Given the description of an element on the screen output the (x, y) to click on. 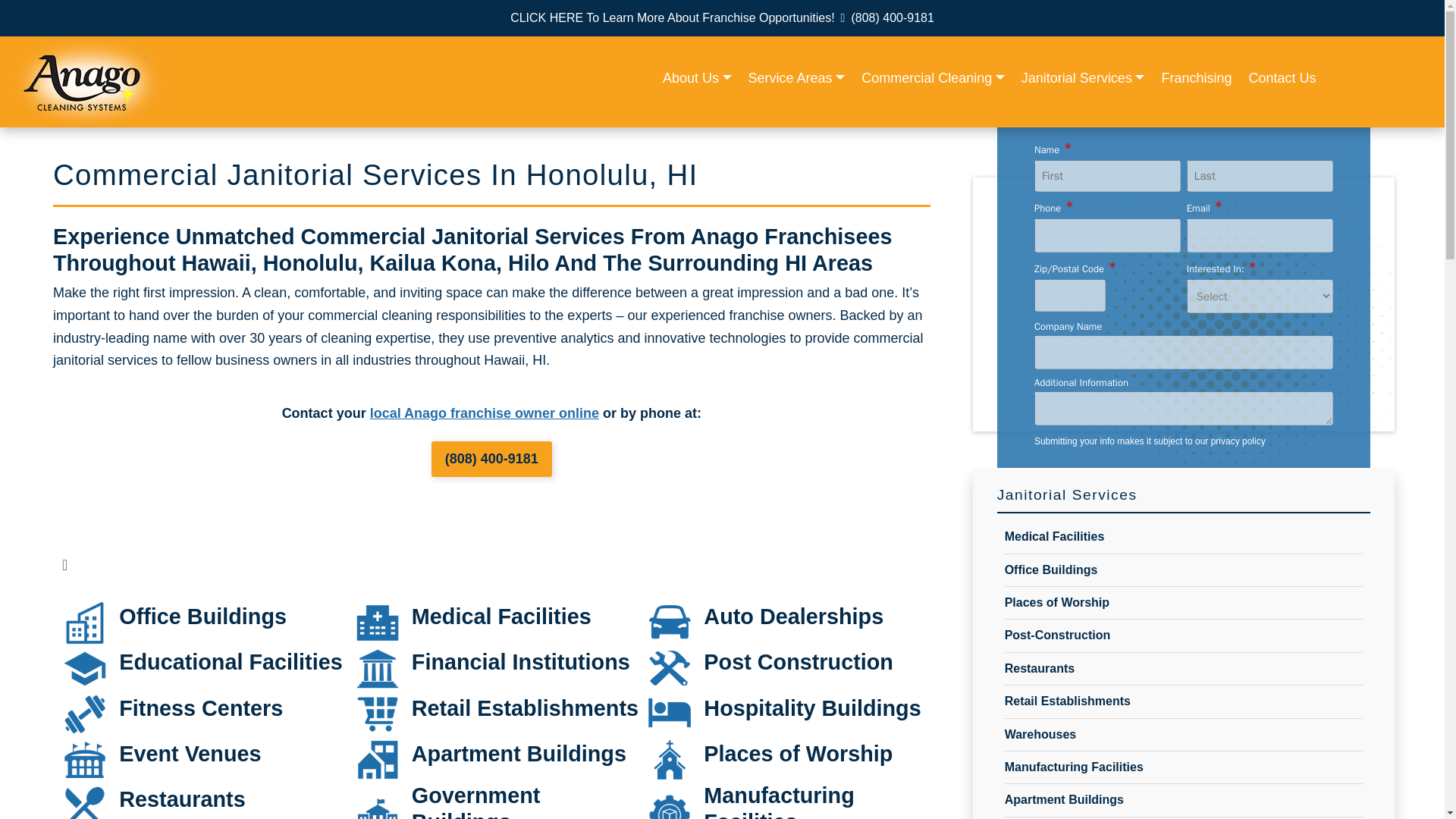
Commercial Cleaning (933, 78)
Franchising (1195, 78)
About Us (697, 78)
Service Areas (796, 78)
Janitorial Services (1082, 78)
Submit (1183, 490)
CLICK HERE To Learn More About Franchise Opportunities! (672, 18)
